Given the description of an element on the screen output the (x, y) to click on. 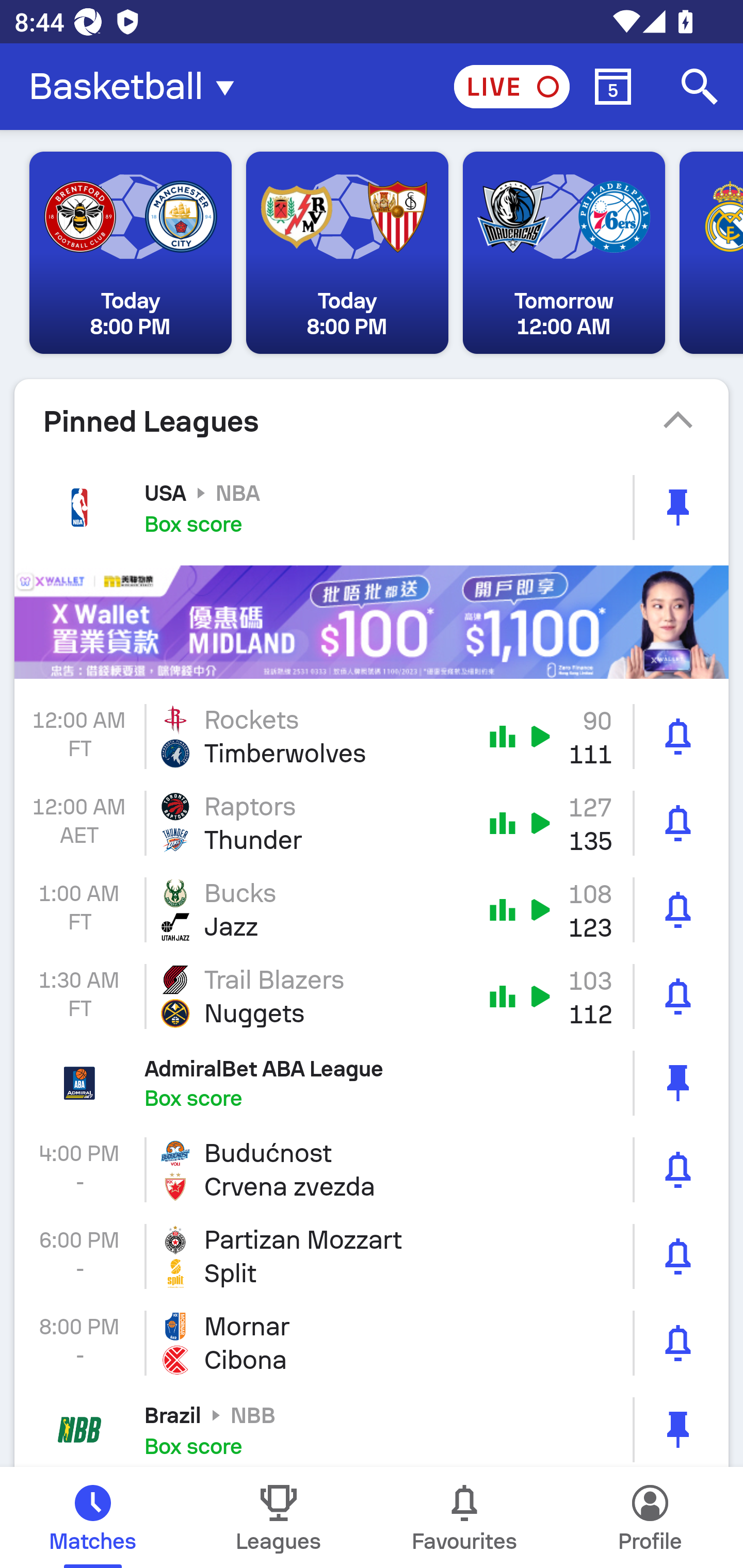
Basketball (137, 86)
Calendar (612, 86)
Search (699, 86)
Today
8:00 PM (130, 253)
Today
8:00 PM (346, 253)
Tomorrow
12:00 AM (563, 253)
Pinned Leagues (371, 421)
USA NBA Box score (371, 507)
Advertisement (372, 623)
12:00 AM FT Rockets Timberwolves 111 90 (371, 736)
12:00 AM AET Raptors Thunder 127 135 (371, 823)
1:00 AM FT Bucks Jazz 108 123 (371, 910)
1:30 AM FT Trail Blazers Nuggets 103 112 (371, 996)
AdmiralBet ABA League Box score (371, 1082)
4:00 PM - Budućnost Crvena zvezda (371, 1169)
6:00 PM - Partizan Mozzart Split (371, 1256)
8:00 PM - Mornar Cibona (371, 1342)
Brazil NBB Box score (371, 1426)
Leagues (278, 1517)
Favourites (464, 1517)
Profile (650, 1517)
